Given the description of an element on the screen output the (x, y) to click on. 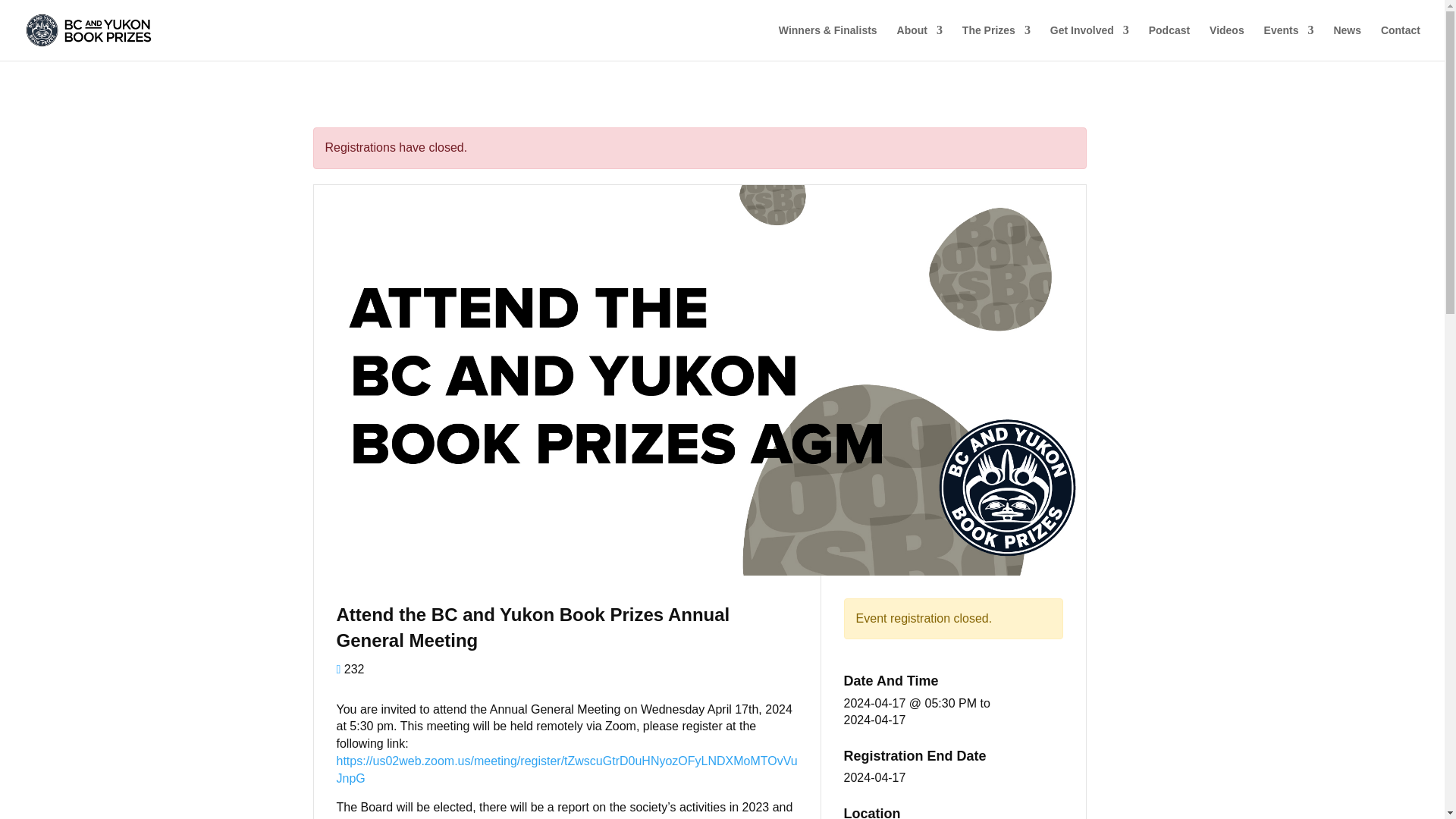
Podcast (1168, 42)
Contact (1400, 42)
Videos (1226, 42)
Get Involved (1089, 42)
Events (1288, 42)
The Prizes (996, 42)
About (919, 42)
